Given the description of an element on the screen output the (x, y) to click on. 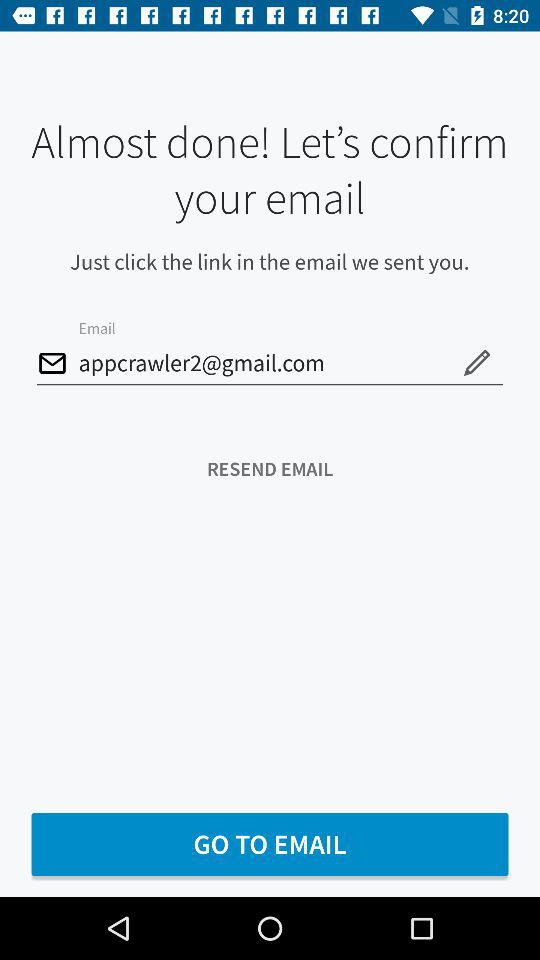
select the resend email icon (269, 468)
